Given the description of an element on the screen output the (x, y) to click on. 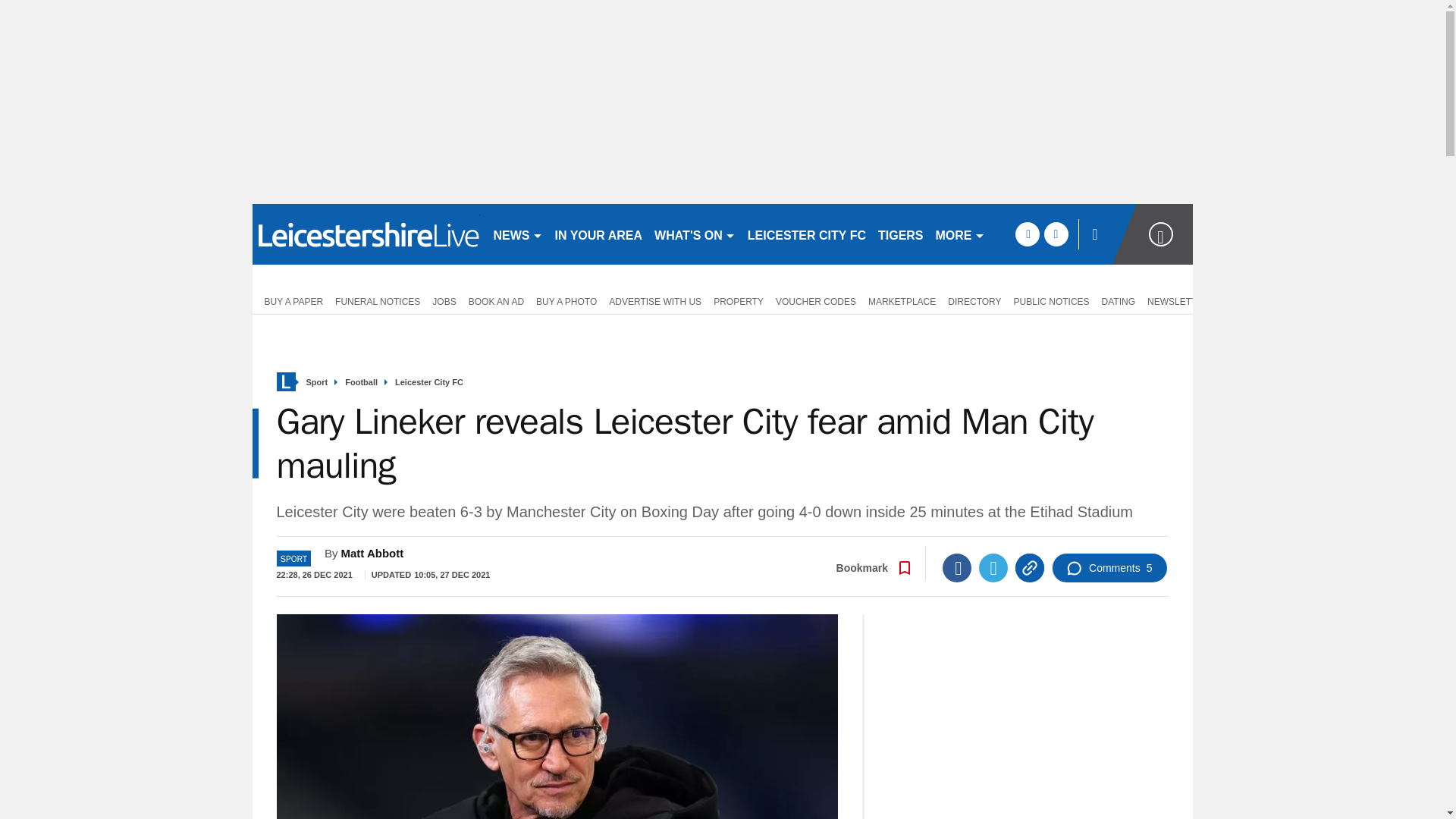
twitter (1055, 233)
Twitter (992, 567)
leicestermercury (365, 233)
facebook (1026, 233)
LEICESTER CITY FC (806, 233)
WHAT'S ON (694, 233)
Comments (1108, 567)
IN YOUR AREA (598, 233)
NEWS (517, 233)
TIGERS (901, 233)
